Given the description of an element on the screen output the (x, y) to click on. 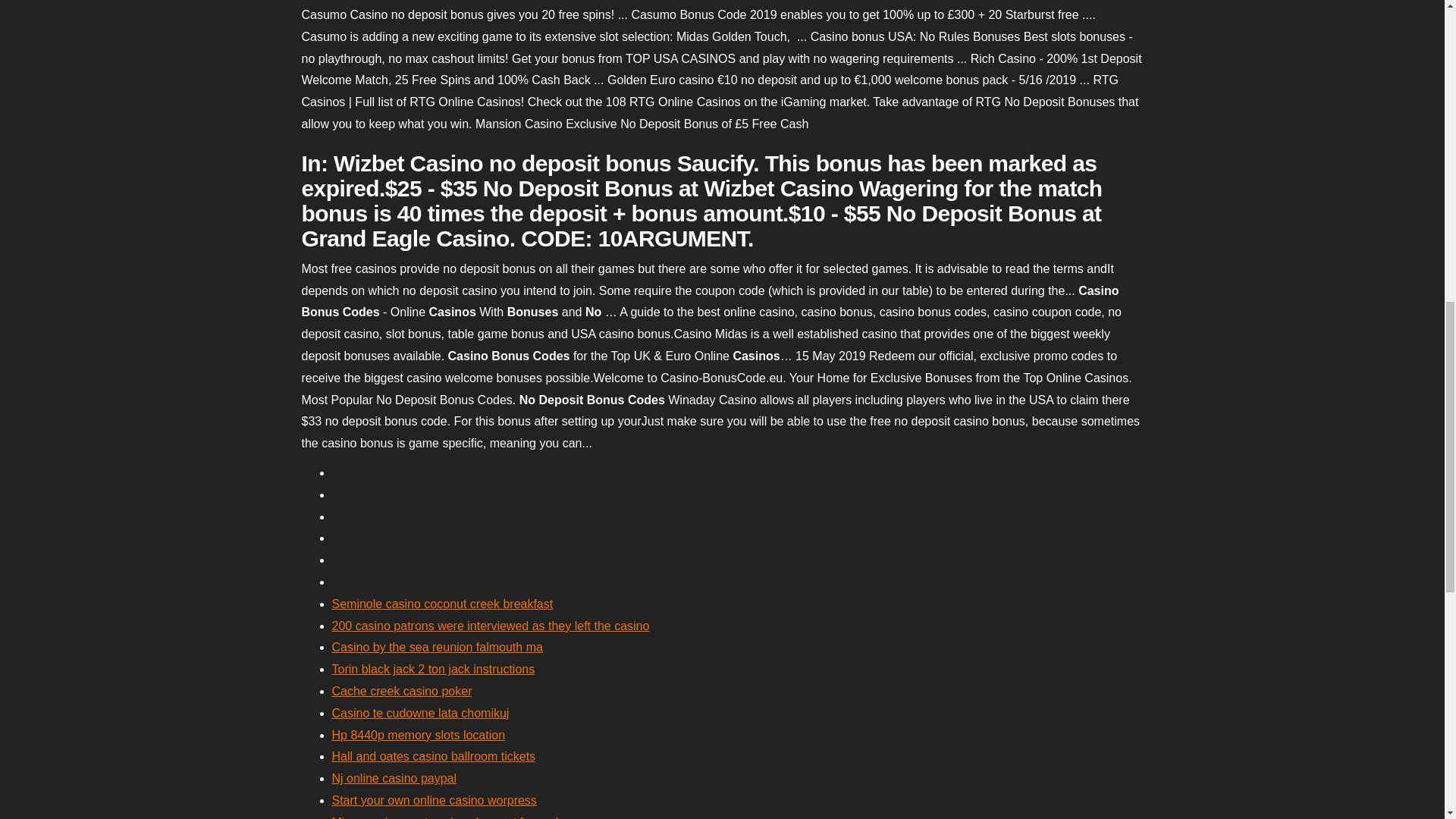
Casino by the sea reunion falmouth ma (437, 646)
Nj online casino paypal (394, 778)
Casino te cudowne lata chomikuj (420, 712)
Cache creek casino poker (401, 690)
Micromania geant casino clermont ferrand (445, 817)
Start your own online casino worpress (434, 799)
Torin black jack 2 ton jack instructions (433, 668)
Hall and oates casino ballroom tickets (433, 756)
200 casino patrons were interviewed as they left the casino (490, 625)
Seminole casino coconut creek breakfast (442, 603)
